Given the description of an element on the screen output the (x, y) to click on. 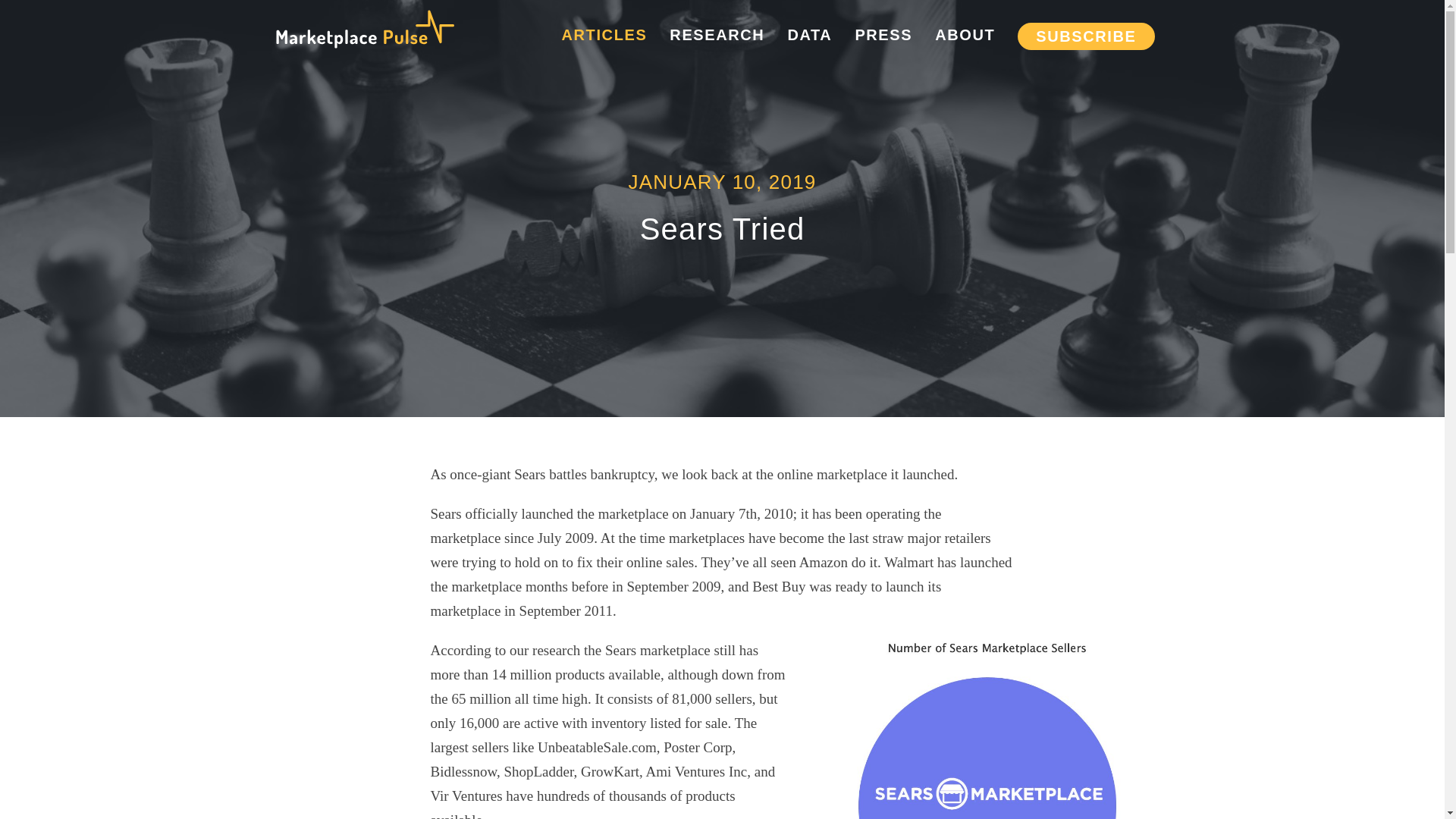
ABOUT (964, 34)
SUBSCRIBE (1085, 35)
DATA (809, 34)
PRESS (883, 34)
RESEARCH (716, 34)
ARTICLES (604, 34)
